Given the description of an element on the screen output the (x, y) to click on. 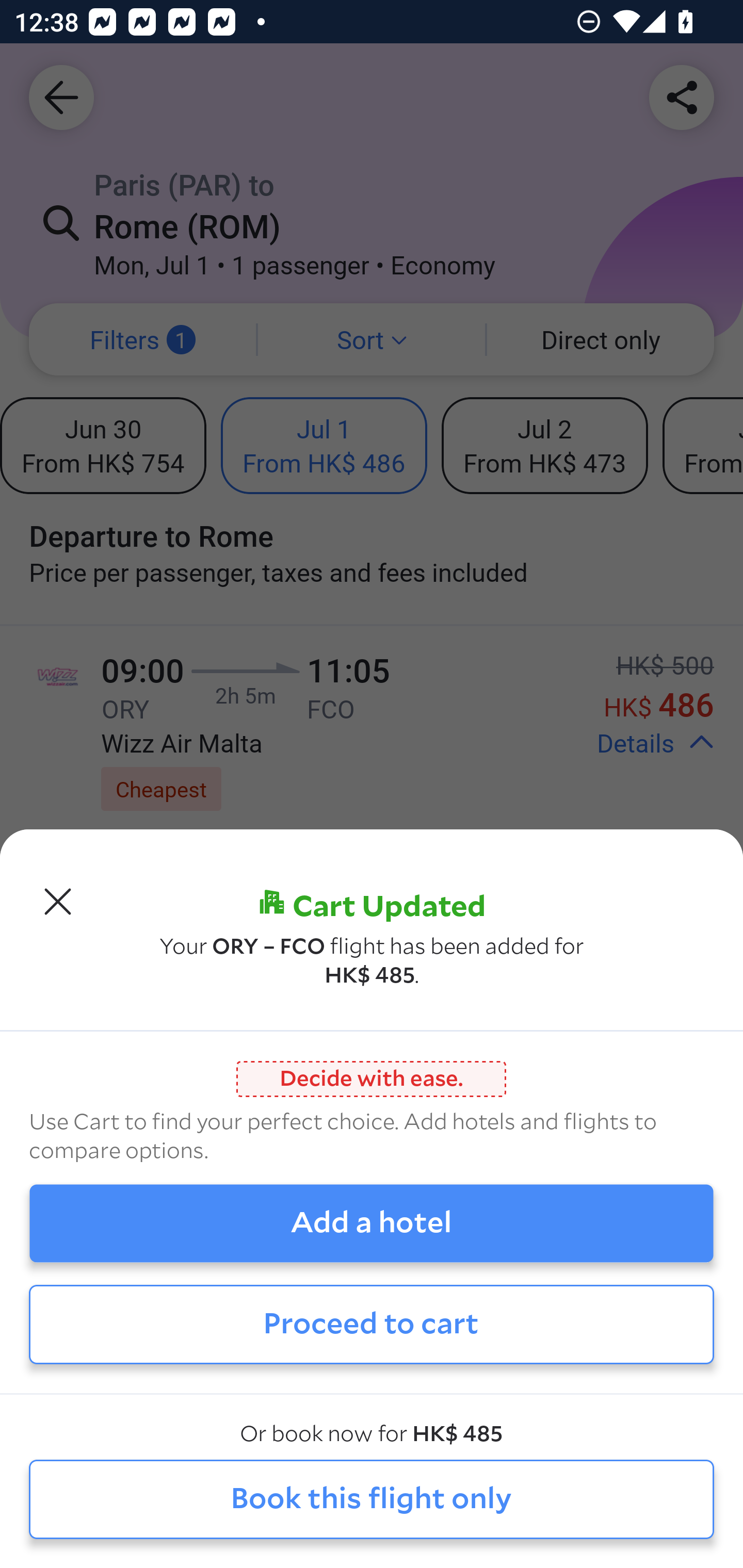
Add a hotel  Add a hotel (371, 1223)
Proceed to cart  Proceed to cart (371, 1324)
Book this flight only  Book this flight only (371, 1499)
